Given the description of an element on the screen output the (x, y) to click on. 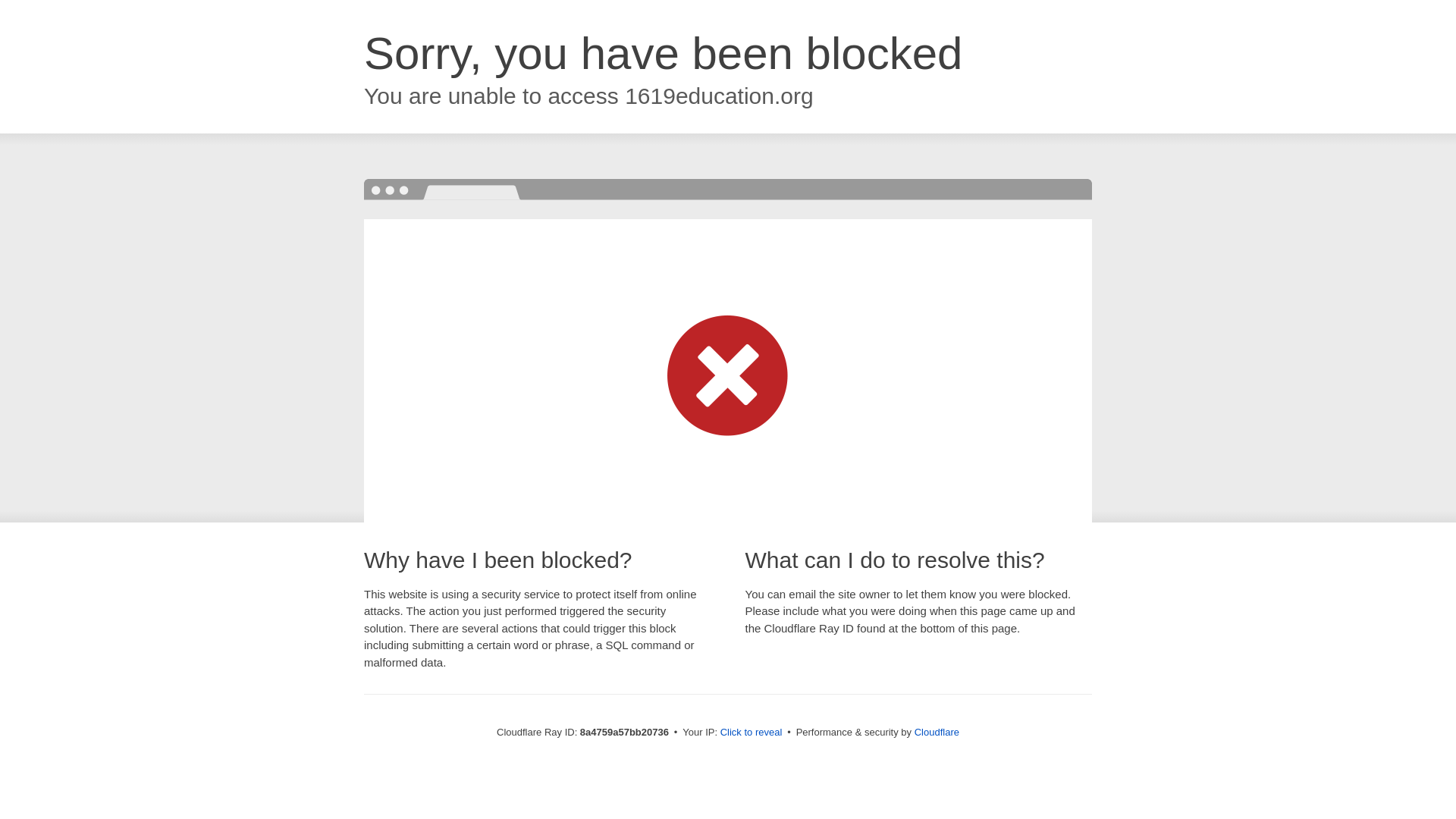
Click to reveal (751, 732)
Cloudflare (936, 731)
